Given the description of an element on the screen output the (x, y) to click on. 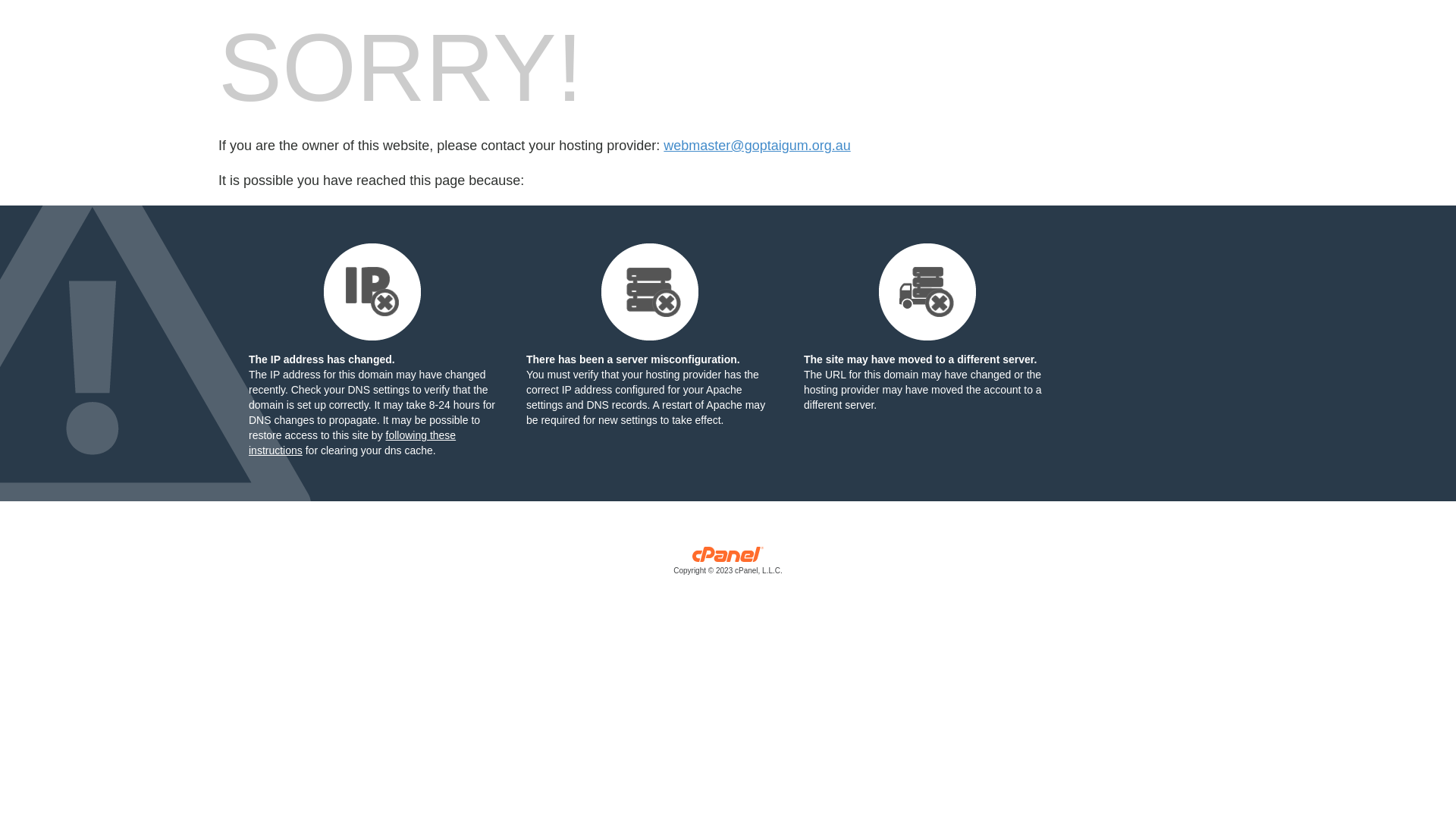
following these instructions Element type: text (351, 442)
webmaster@goptaigum.org.au Element type: text (756, 145)
